Given the description of an element on the screen output the (x, y) to click on. 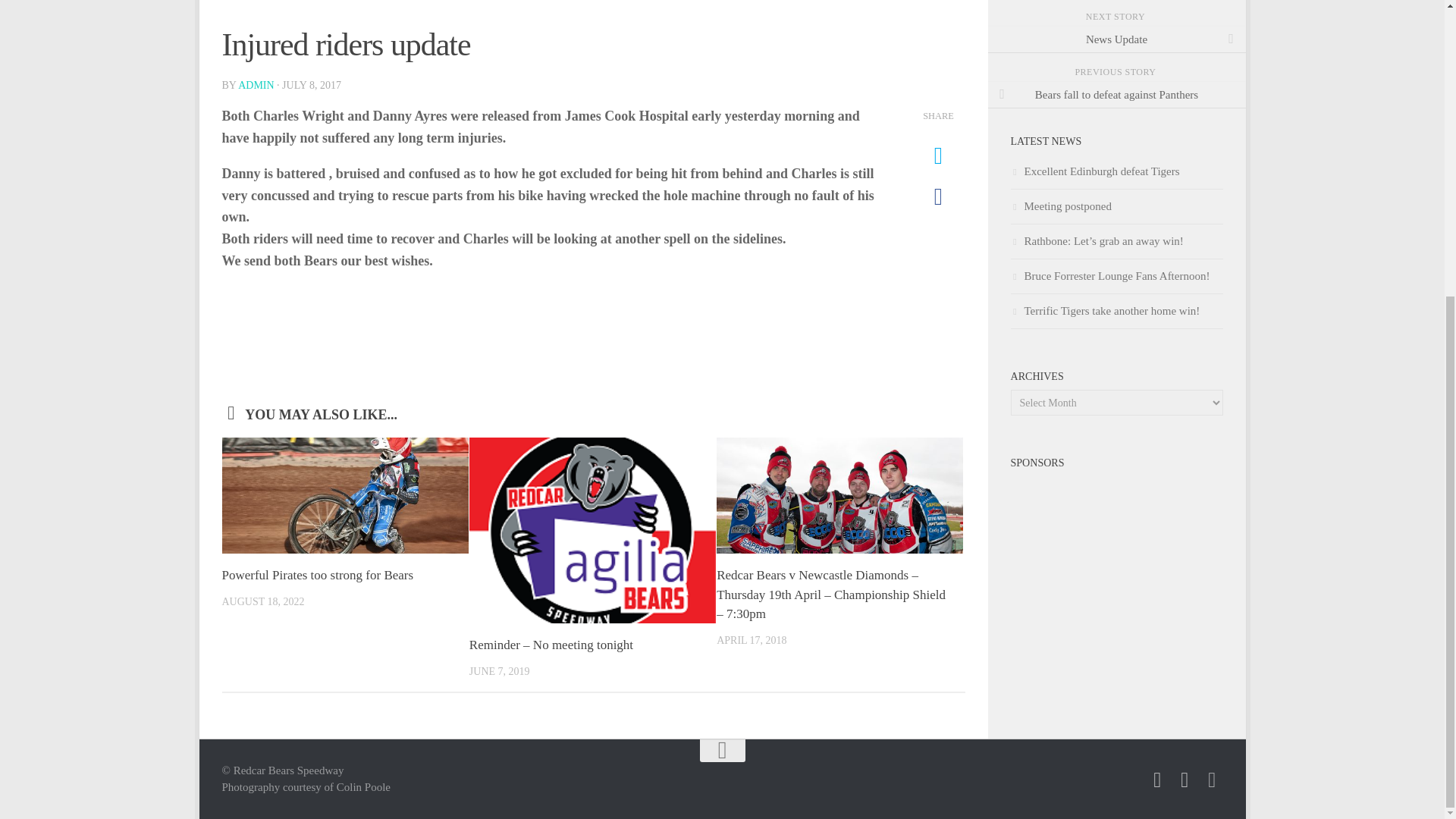
Follow us on Youtube (1212, 780)
Follow us on Twitter (1184, 780)
Posts by admin (255, 84)
ADMIN (255, 84)
Powerful Pirates too strong for Bears (317, 575)
Follow us on Facebook (1157, 780)
